Given the description of an element on the screen output the (x, y) to click on. 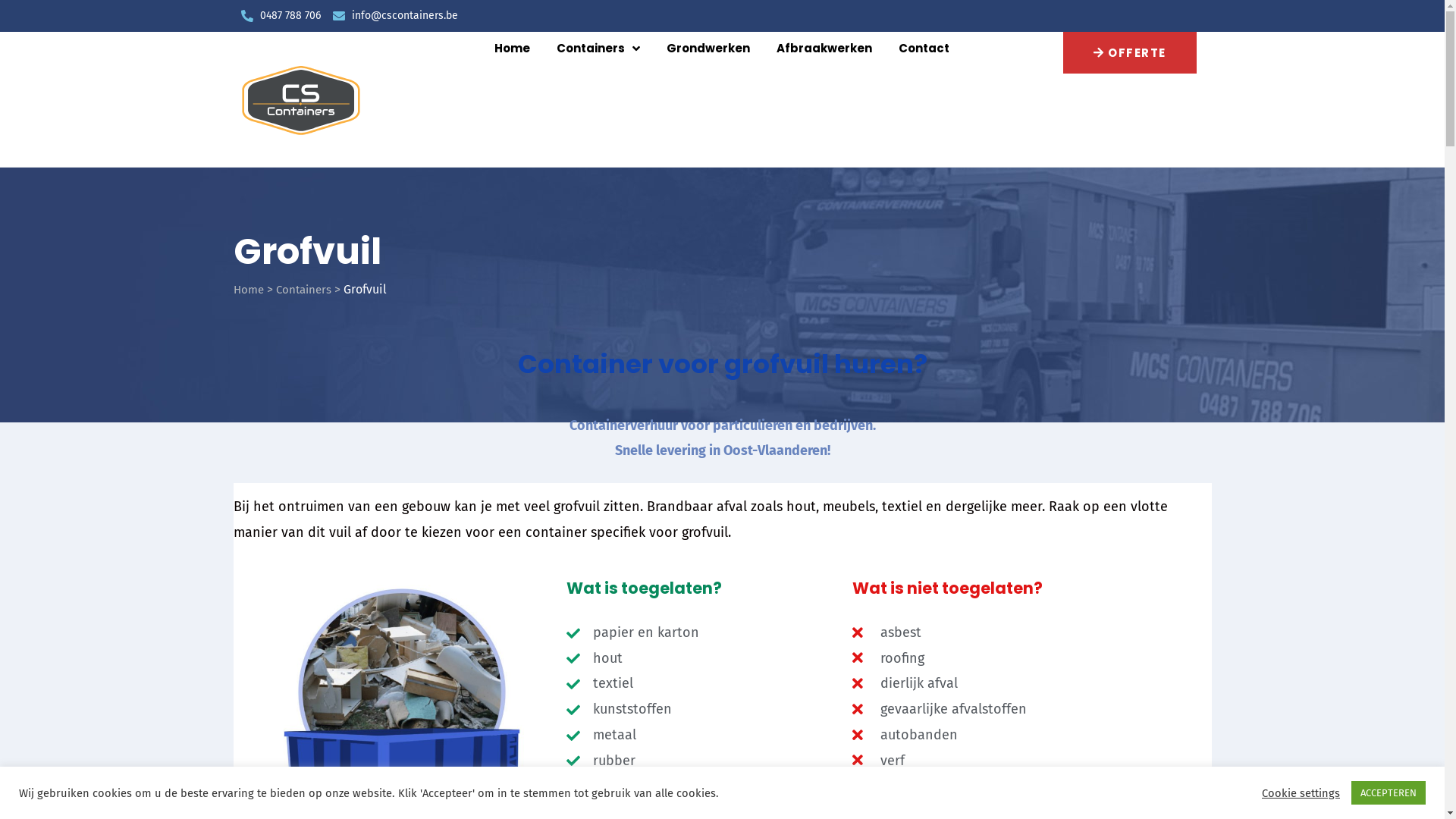
Home Element type: text (248, 289)
Afbraakwerken Element type: text (824, 47)
Containers Element type: text (303, 289)
Containers Element type: text (598, 47)
ACCEPTEREN Element type: text (1388, 792)
Cookie settings Element type: text (1300, 792)
Grondwerken Element type: text (707, 47)
OFFERTE Element type: text (1129, 52)
Home Element type: text (512, 47)
0487 788 706 Element type: text (280, 15)
info@cscontainers.be Element type: text (394, 15)
Contact Element type: text (923, 47)
